Given the description of an element on the screen output the (x, y) to click on. 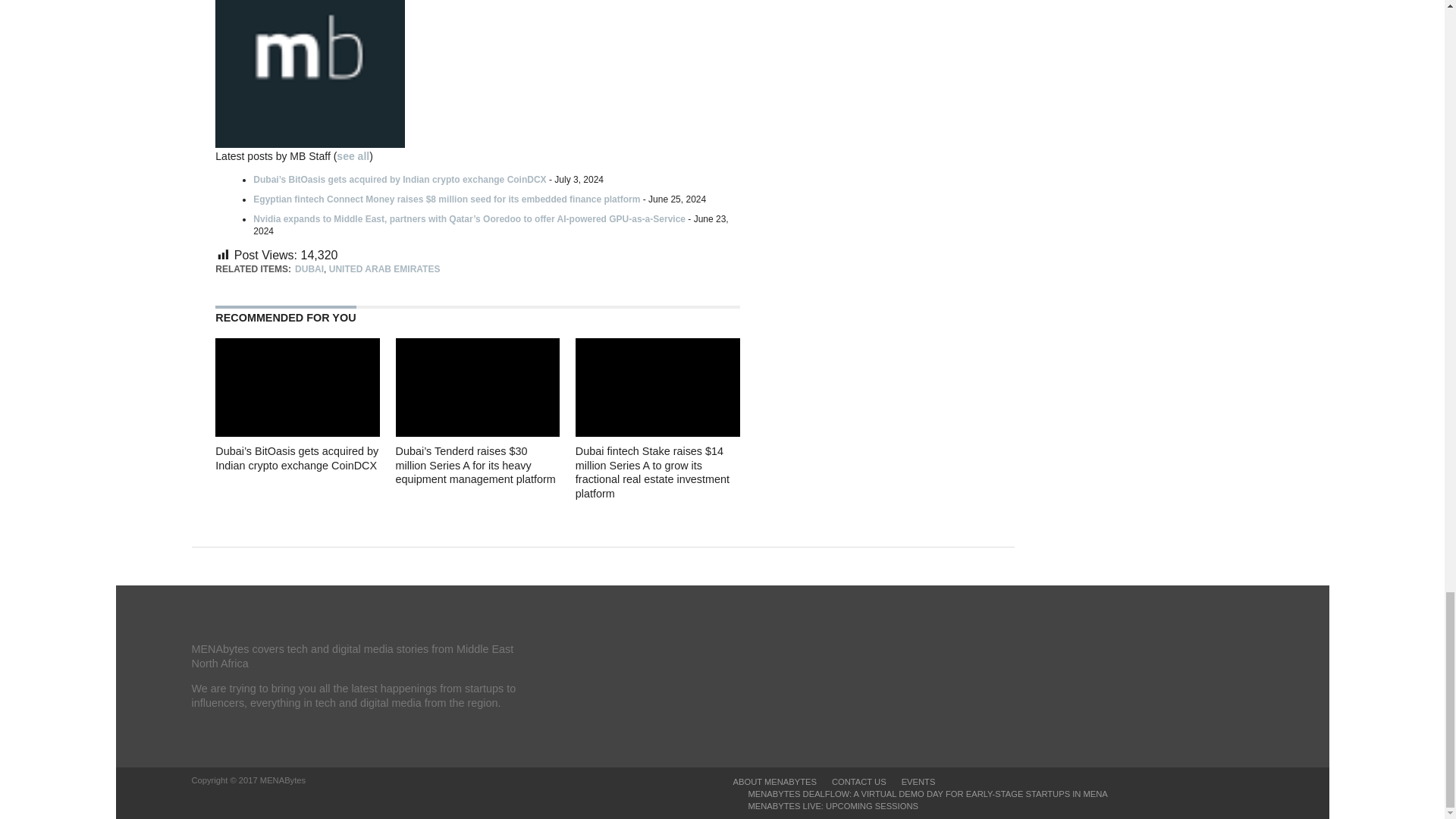
MB Staff (309, 143)
see all (352, 155)
